Given the description of an element on the screen output the (x, y) to click on. 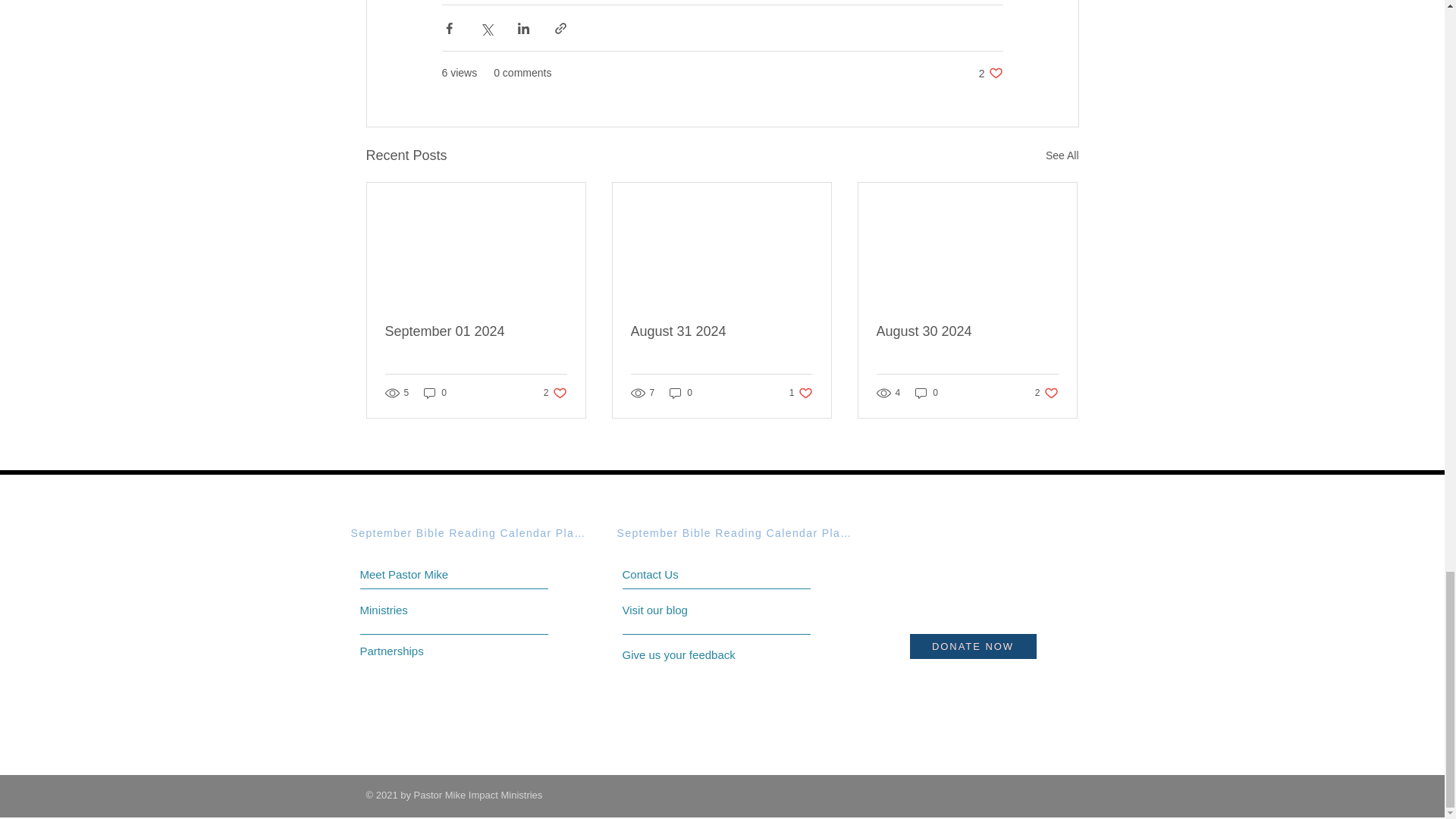
See All (1061, 155)
Contact Us (678, 574)
0 (1046, 392)
Visit our blog (926, 392)
August 31 2024 (687, 609)
Ministries (721, 331)
August 30 2024 (416, 609)
Partnerships (967, 331)
